Given the description of an element on the screen output the (x, y) to click on. 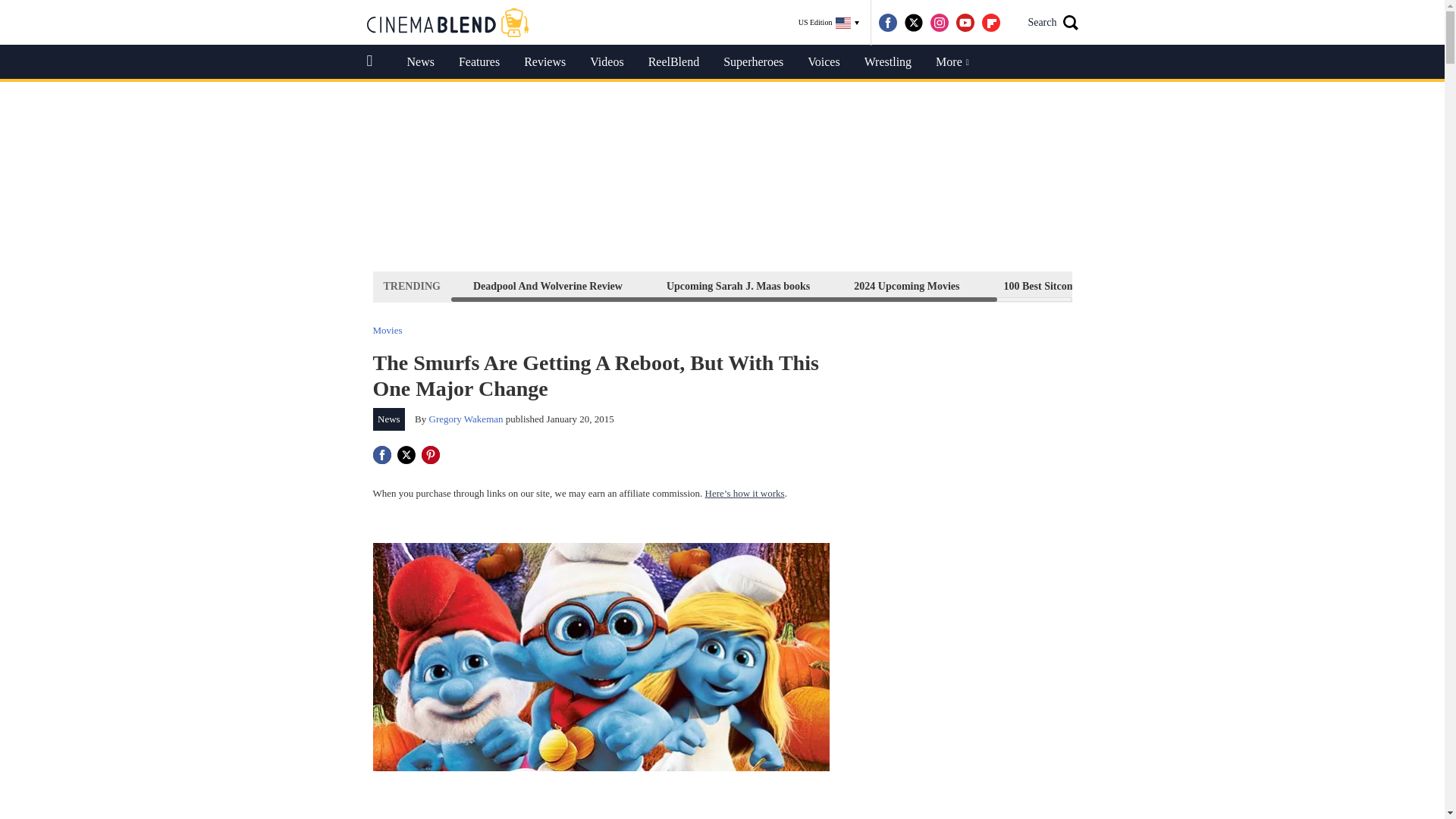
US Edition (828, 22)
Deadpool And Wolverine Review (547, 286)
Movies (387, 329)
Wrestling (887, 61)
News (419, 61)
Voices (822, 61)
Reviews (545, 61)
ReelBlend (673, 61)
100 Best Sitcoms Of All Time (1069, 286)
Upcoming Sarah J. Maas books (738, 286)
Videos (606, 61)
Superheroes (752, 61)
Features (479, 61)
2024 Upcoming Movies (905, 286)
News (389, 418)
